Given the description of an element on the screen output the (x, y) to click on. 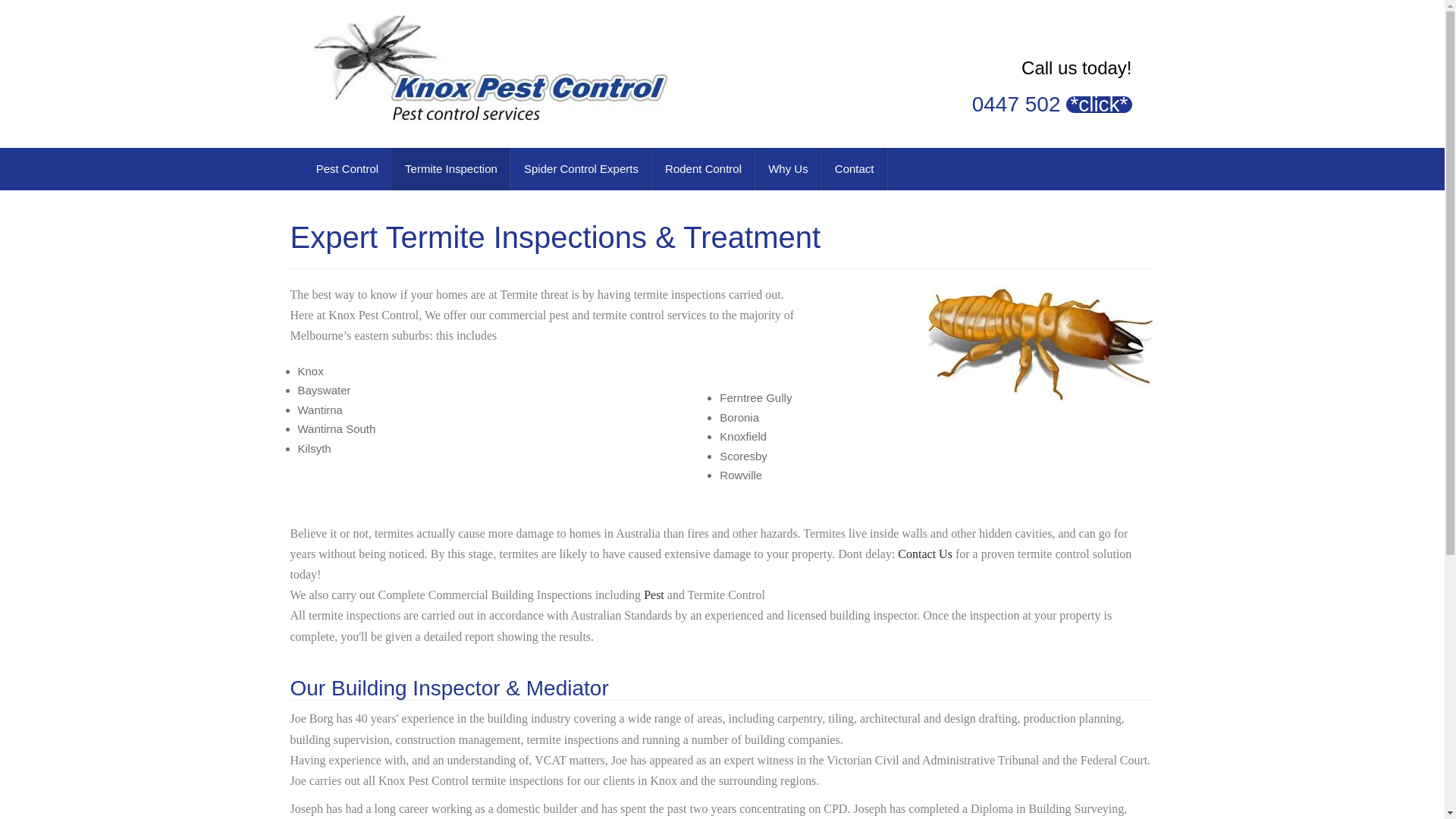
0447 502 *click* Element type: text (1052, 104)
Pest Control Knox Element type: hover (489, 70)
 Termite Inspection Element type: text (449, 168)
 Why Us Element type: text (786, 168)
Contact Us Element type: text (924, 553)
Pest Element type: text (653, 594)
 Contact Element type: text (853, 168)
 Rodent Control Element type: text (701, 168)
 Pest Control Element type: text (346, 168)
 Spider Control Experts Element type: text (579, 168)
